Given the description of an element on the screen output the (x, y) to click on. 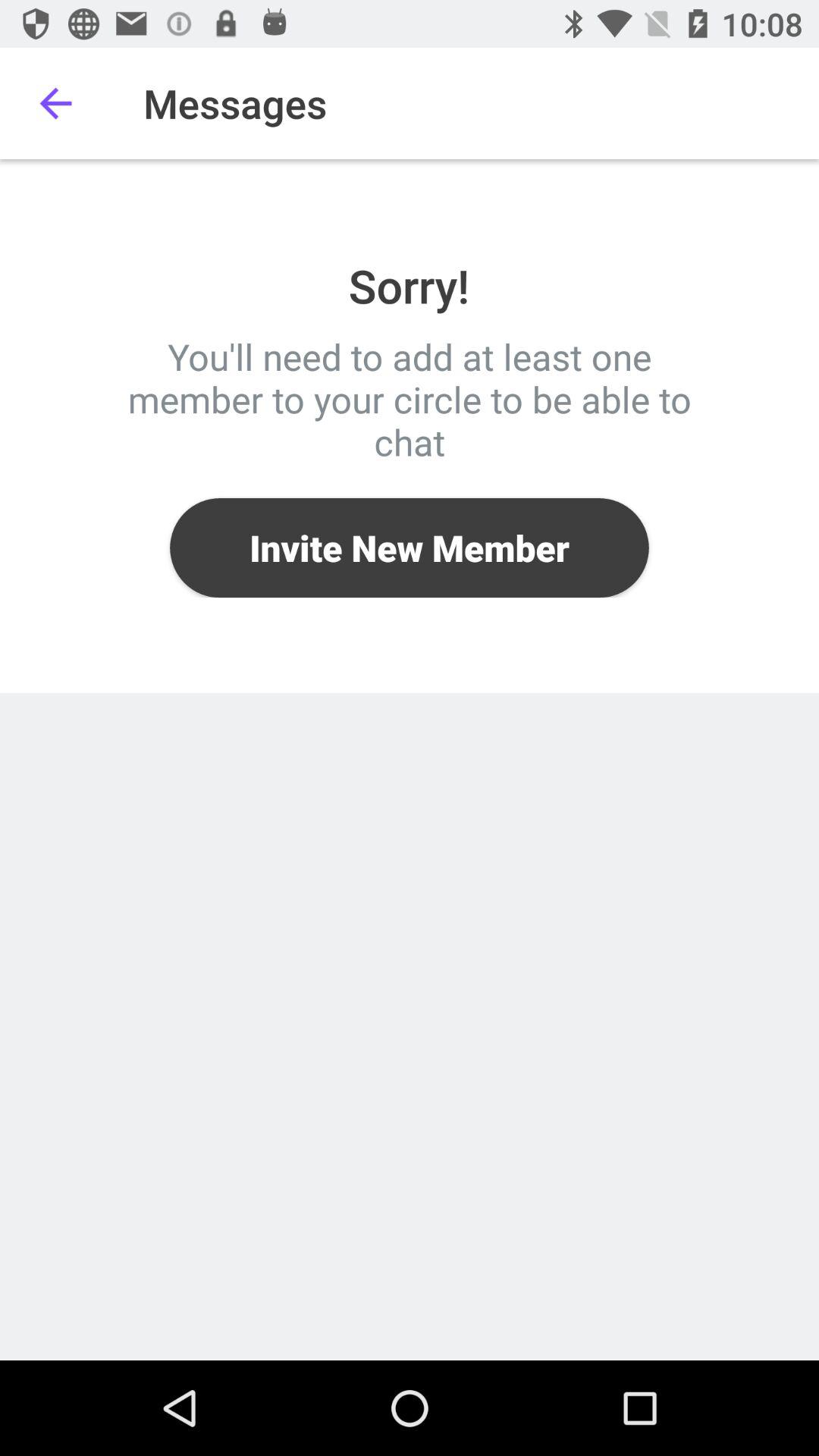
open the icon above the you ll need item (55, 103)
